Given the description of an element on the screen output the (x, y) to click on. 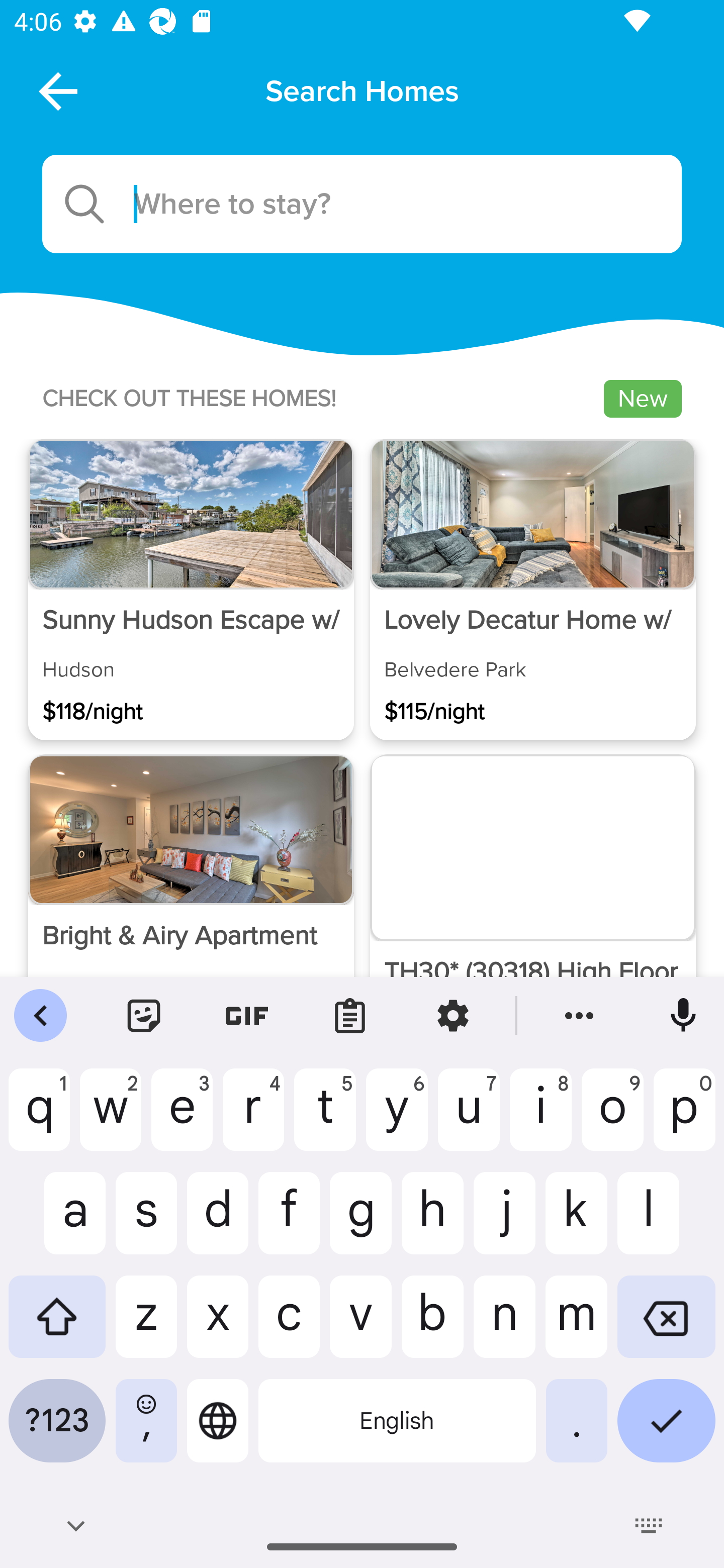
Icon close screen (55, 90)
Search icon Where to stay? (361, 204)
